Given the description of an element on the screen output the (x, y) to click on. 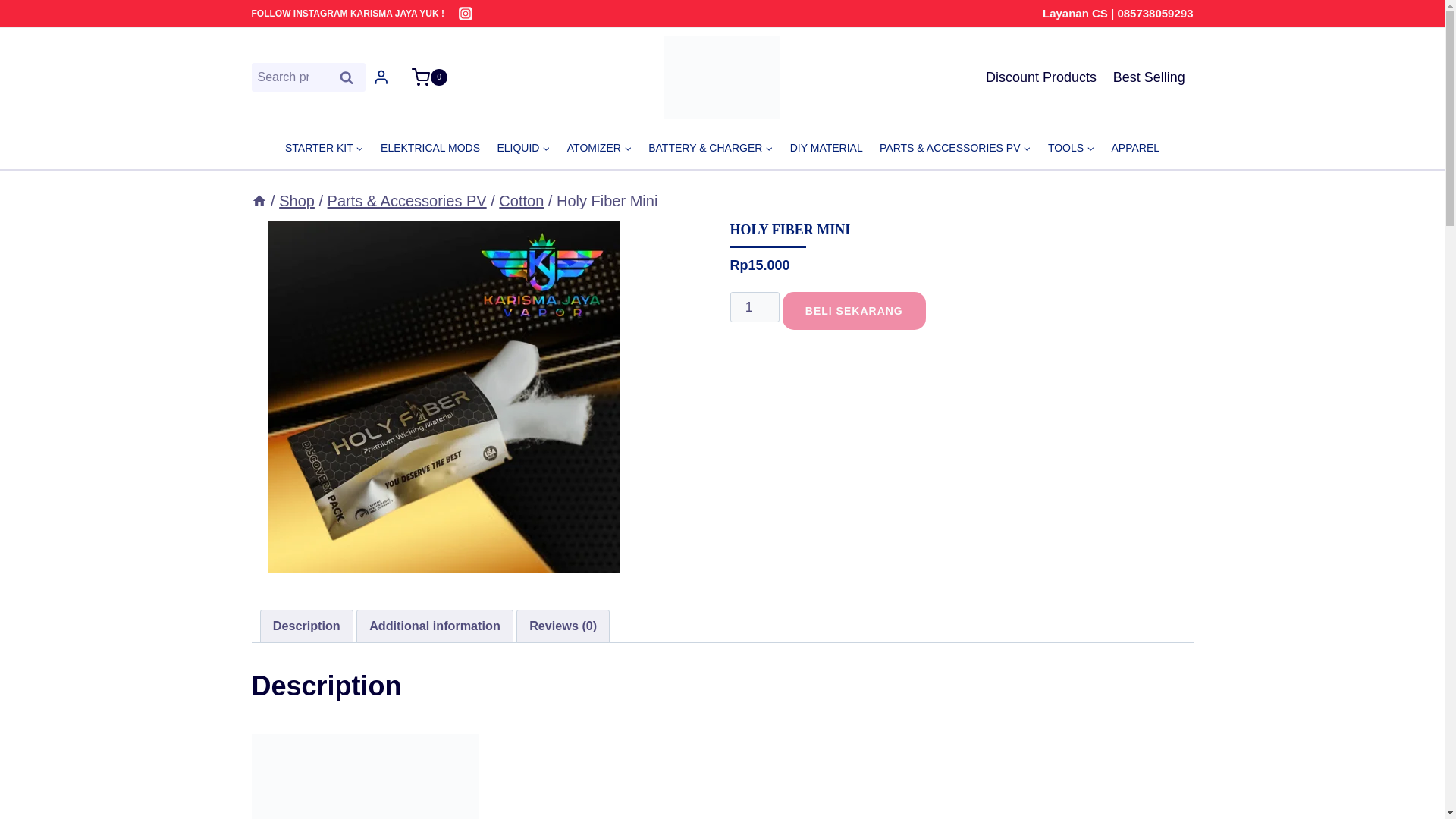
STARTER KIT (324, 147)
ELIQUID (522, 147)
0 (421, 76)
ATOMIZER (599, 147)
Discount Products (1040, 77)
1 (753, 306)
Best Selling (1149, 77)
Search (346, 77)
ELEKTRICAL MODS (429, 147)
holy fiber mini (443, 396)
DIY MATERIAL (825, 147)
Home (258, 200)
